Given the description of an element on the screen output the (x, y) to click on. 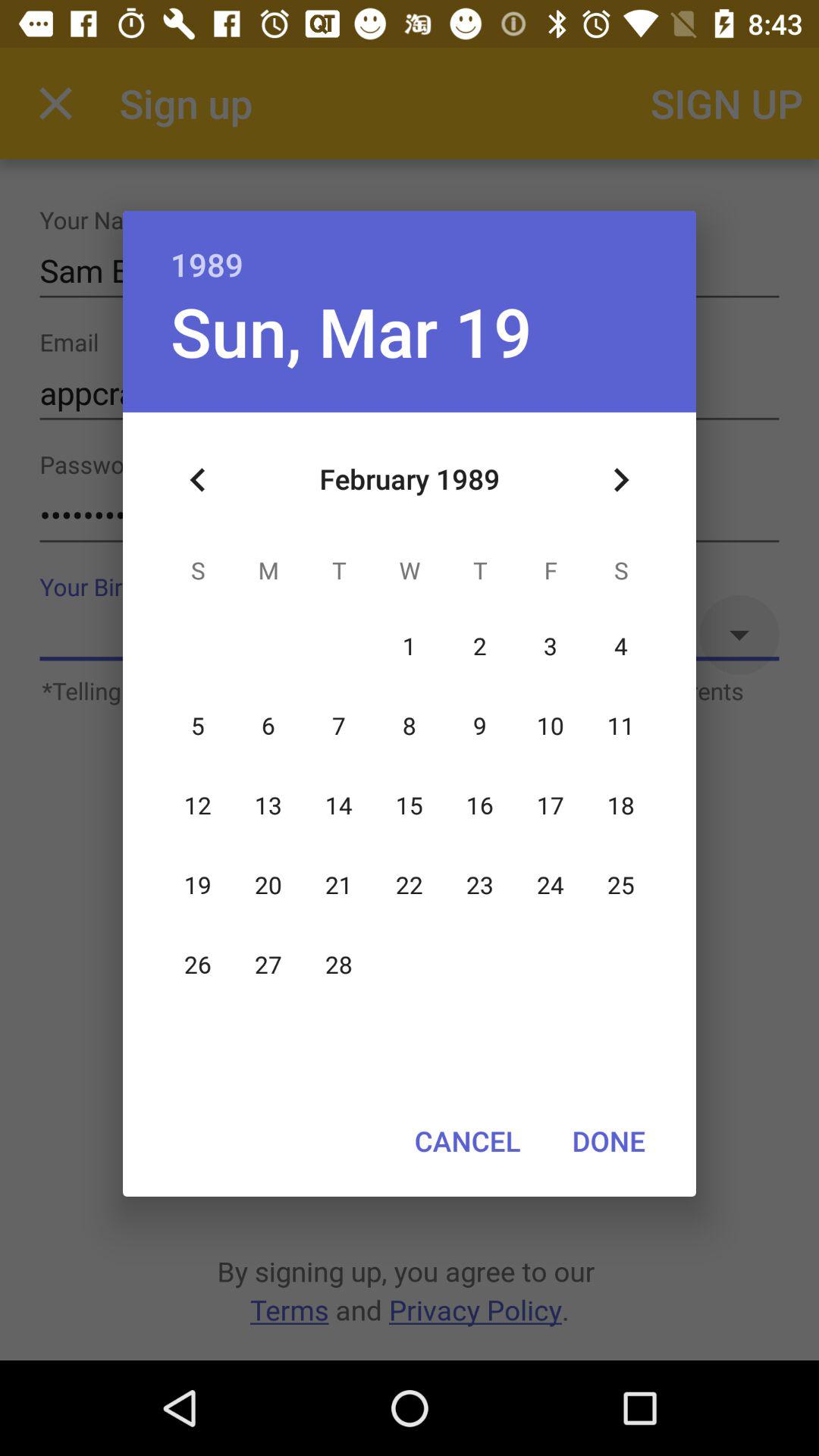
flip to the done icon (608, 1140)
